Given the description of an element on the screen output the (x, y) to click on. 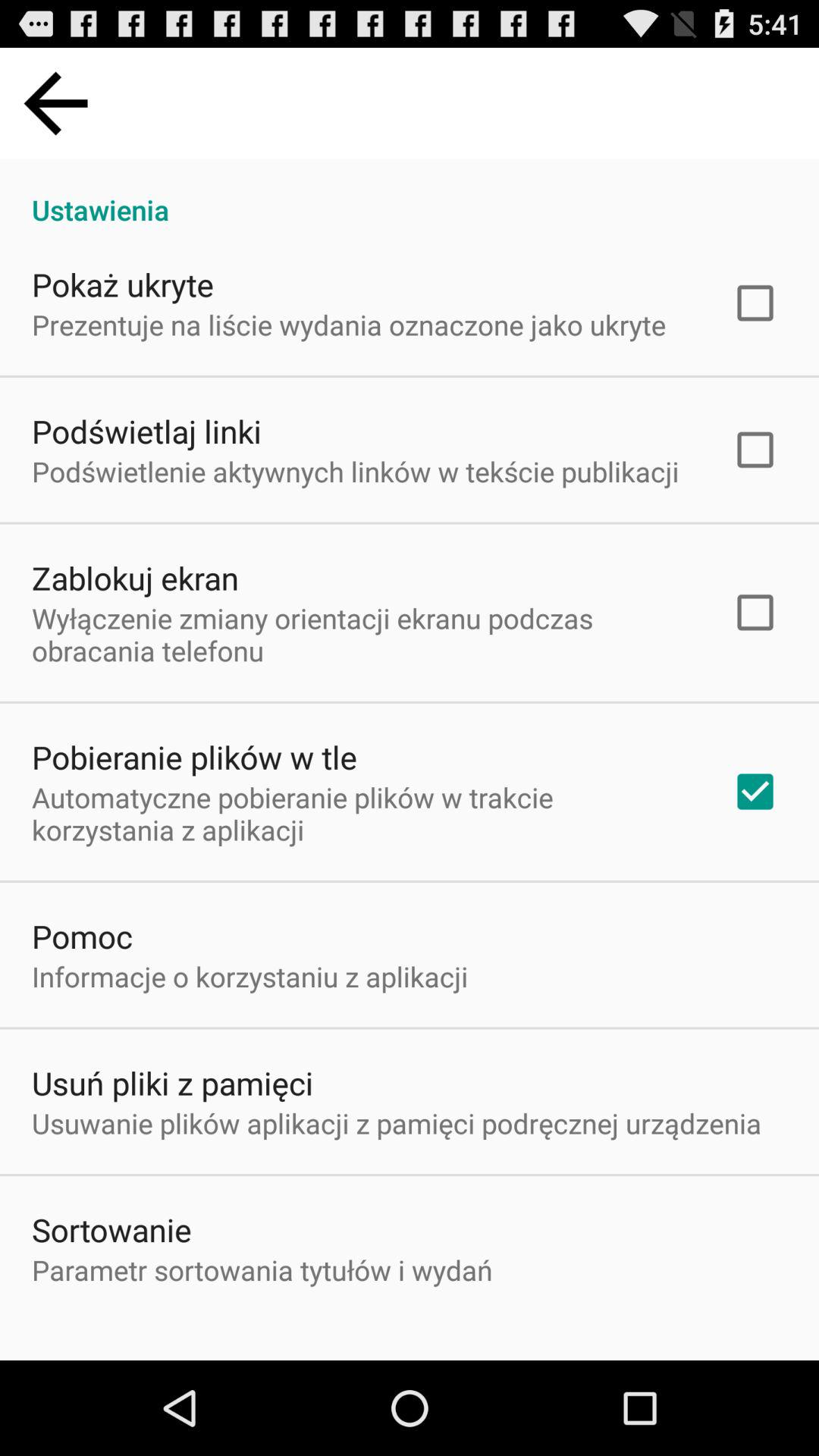
swipe to the zablokuj ekran item (134, 577)
